Given the description of an element on the screen output the (x, y) to click on. 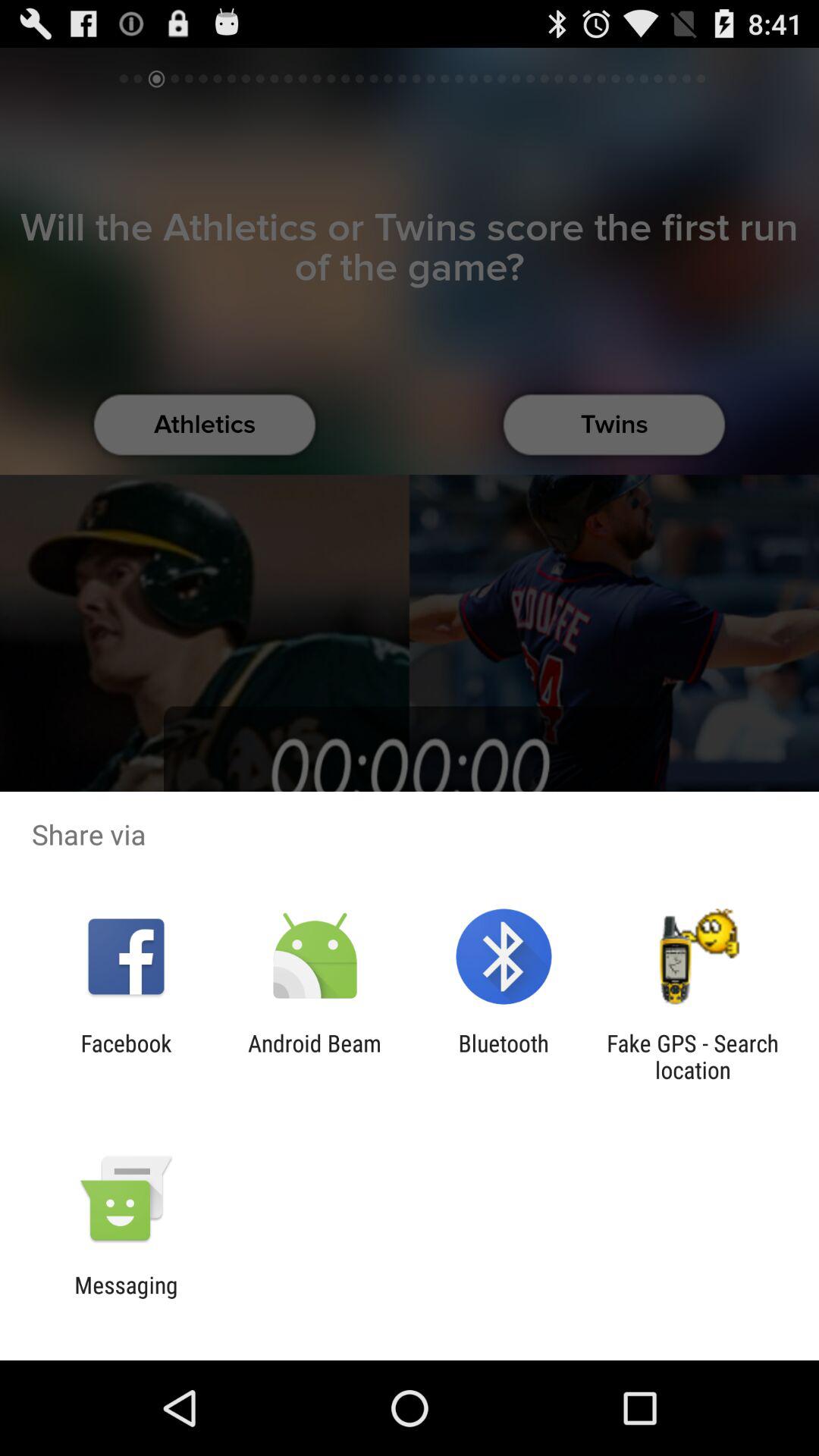
turn off item next to the fake gps search (503, 1056)
